Given the description of an element on the screen output the (x, y) to click on. 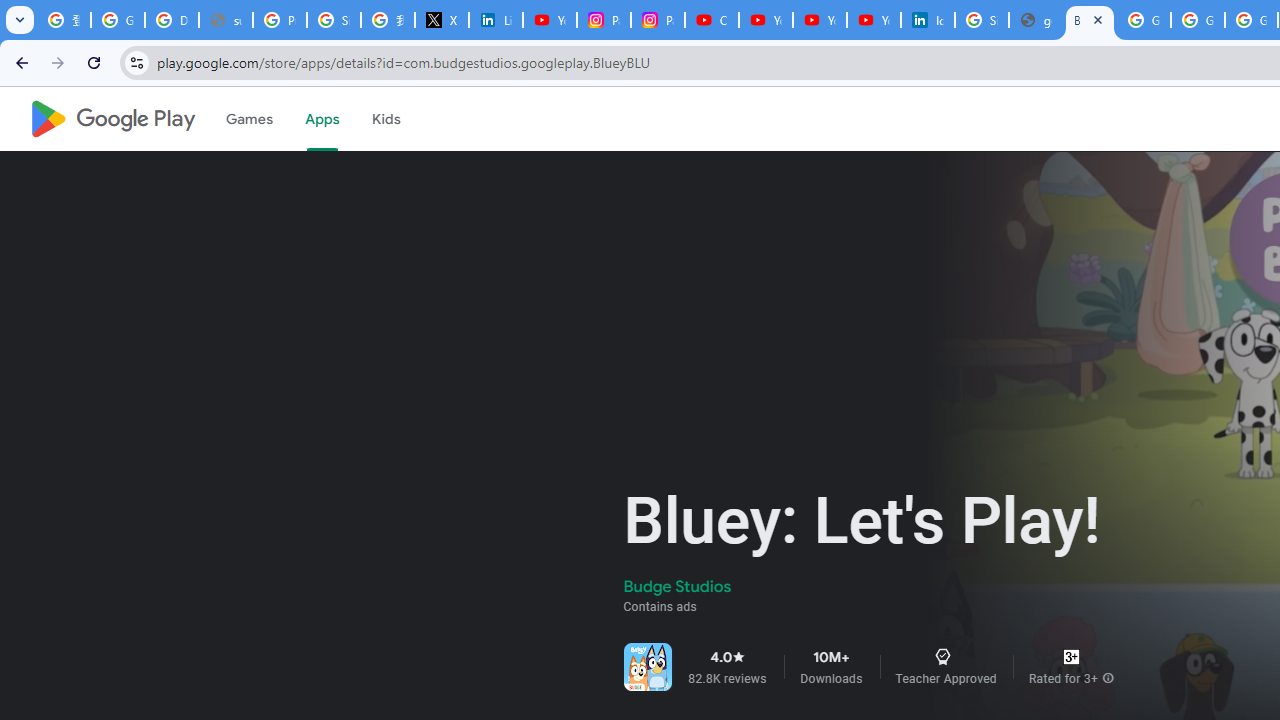
support.google.com - Network error (225, 20)
Kids (385, 119)
